Given the description of an element on the screen output the (x, y) to click on. 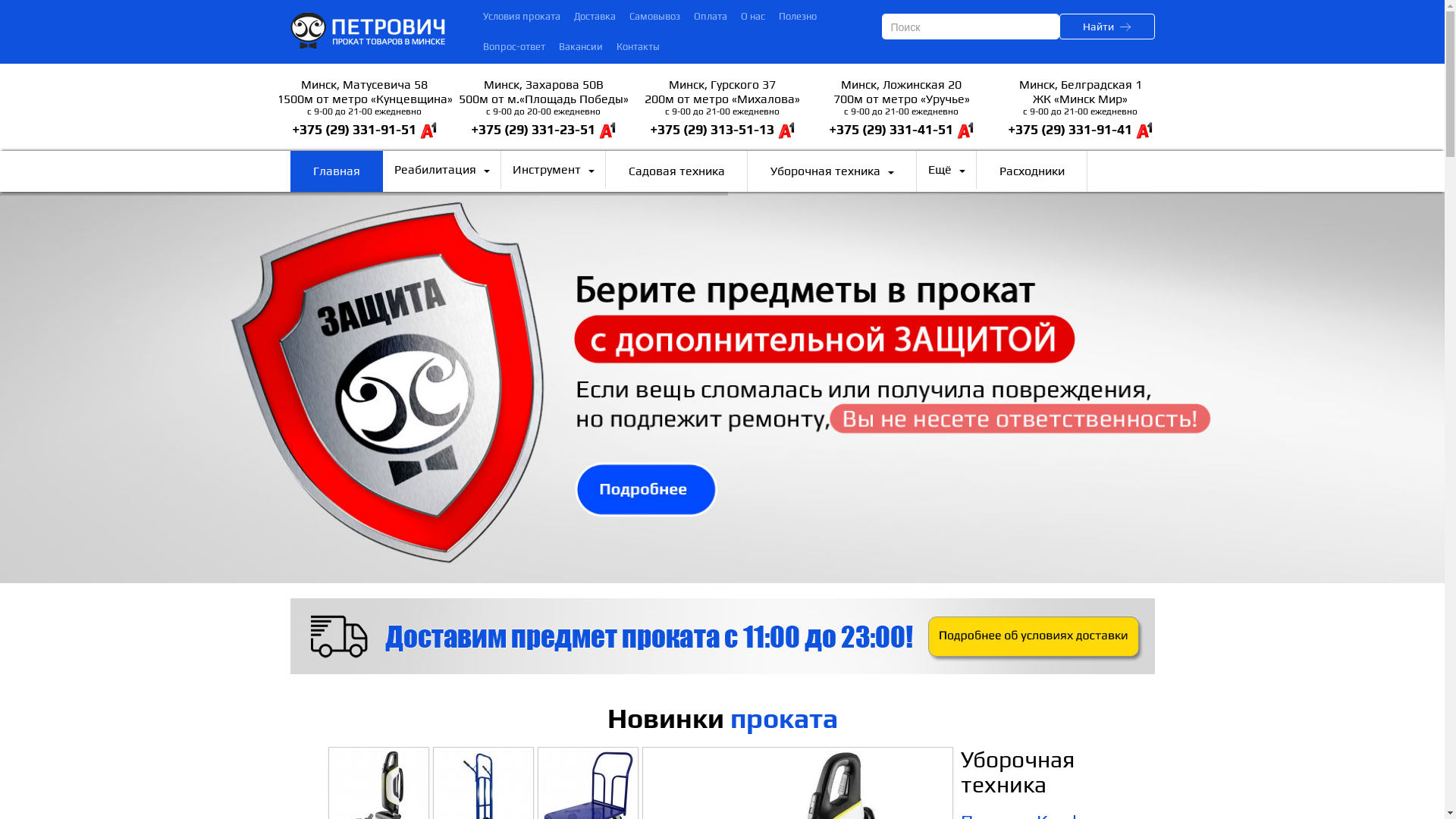
+375 (29) 331-91-51 Element type: text (353, 129)
+375 (29) 313-51-13 Element type: text (711, 129)
+375 (29) 331-91-41 Element type: text (1069, 129)
+375 (29) 331-23-51 Element type: text (532, 129)
+375 (29) 331-41-51 Element type: text (890, 129)
